Given the description of an element on the screen output the (x, y) to click on. 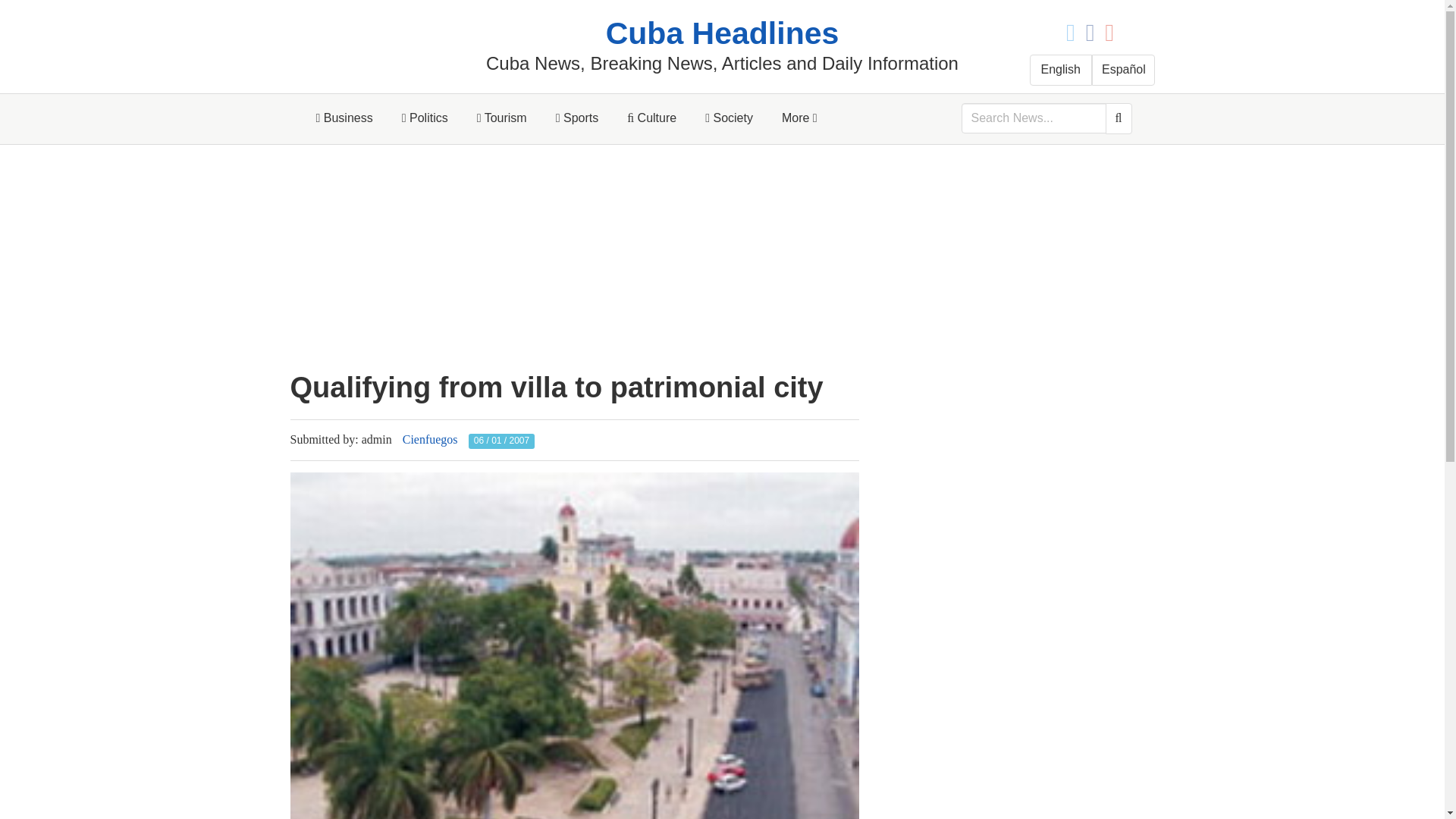
Cuba Headlines (722, 32)
Home (722, 32)
English (1061, 69)
Tourism (502, 118)
Cienfuegos (430, 439)
Culture (651, 118)
Sports (577, 118)
More (799, 118)
Advertisement (574, 258)
